Given the description of an element on the screen output the (x, y) to click on. 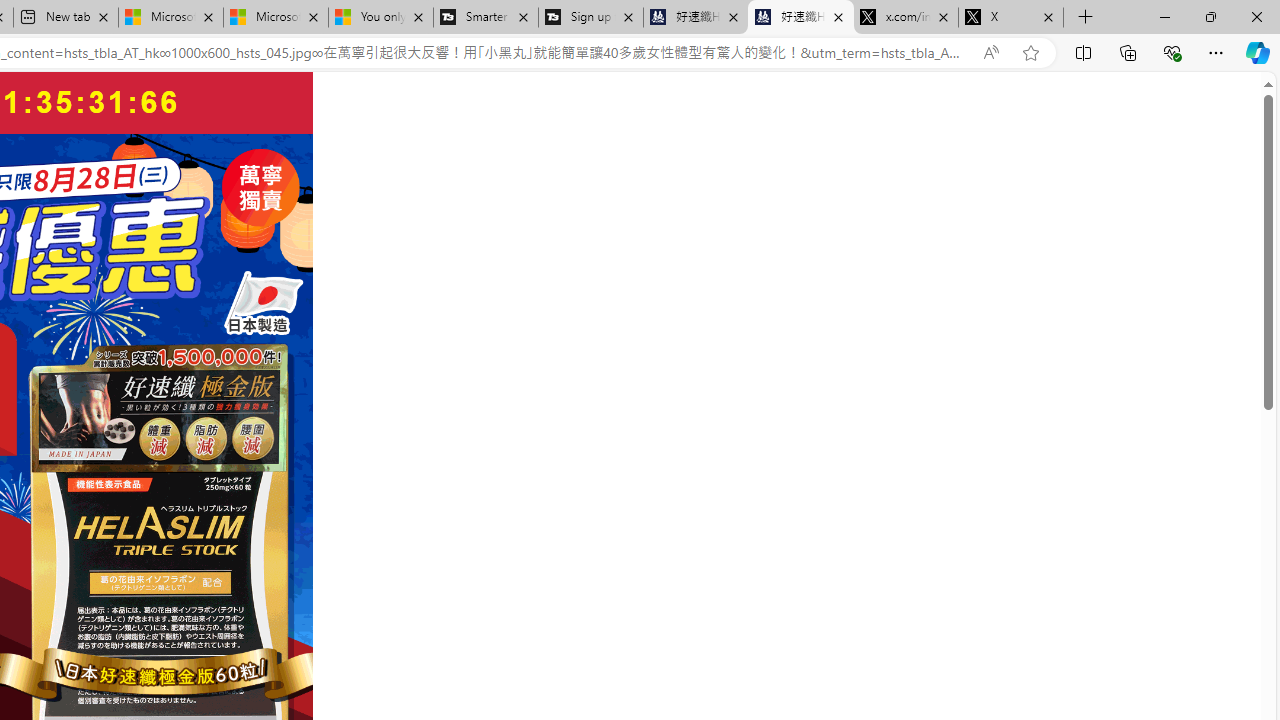
Smarter Living | T3 (485, 17)
